Given the description of an element on the screen output the (x, y) to click on. 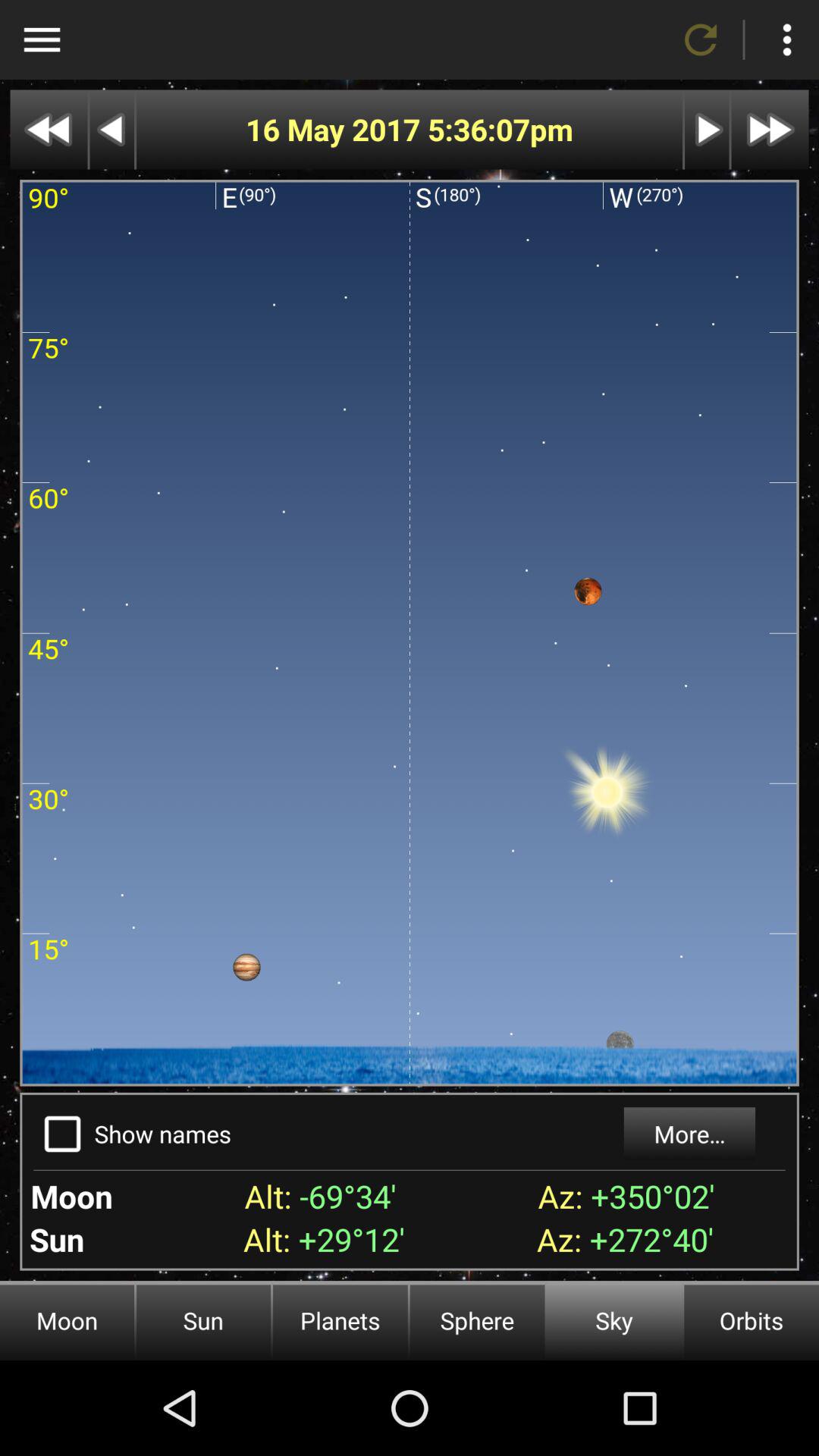
go to beginning (48, 129)
